Given the description of an element on the screen output the (x, y) to click on. 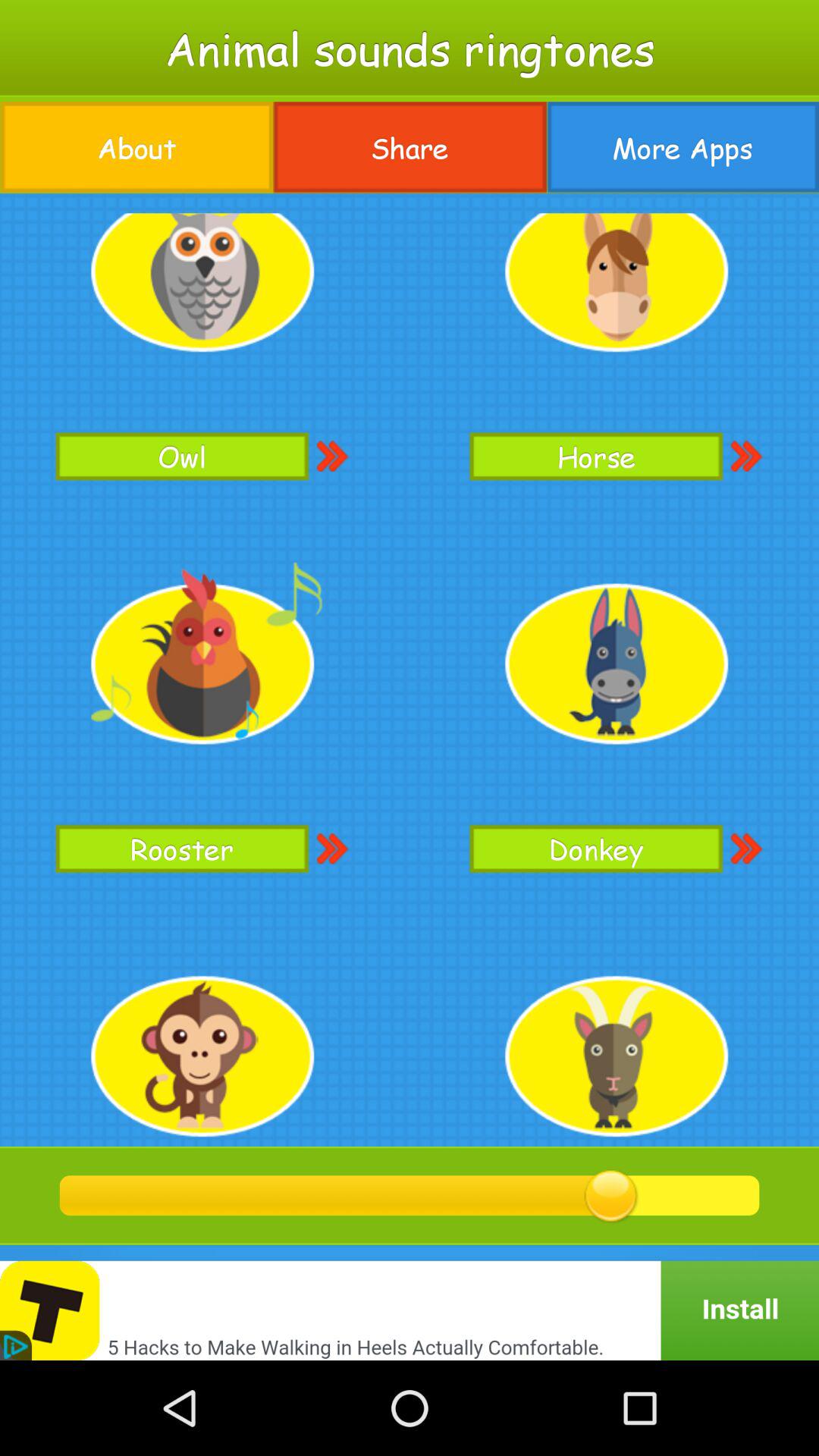
launch icon to the right of about (409, 147)
